Given the description of an element on the screen output the (x, y) to click on. 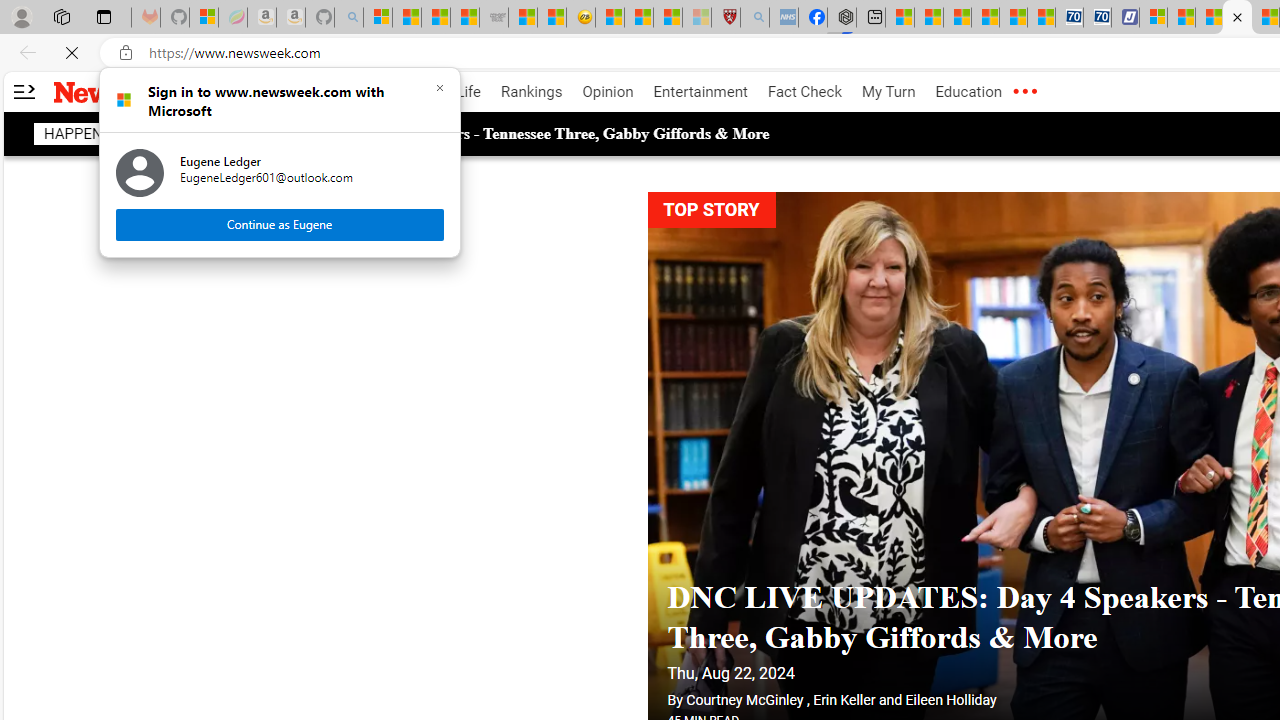
Entertainment (699, 92)
Opinion (607, 92)
Cheap Hotels - Save70.com (1097, 17)
AutomationID: moreOptions (1023, 92)
Education (968, 92)
Fact Check (804, 92)
Education (968, 92)
Combat Siege (494, 17)
